Given the description of an element on the screen output the (x, y) to click on. 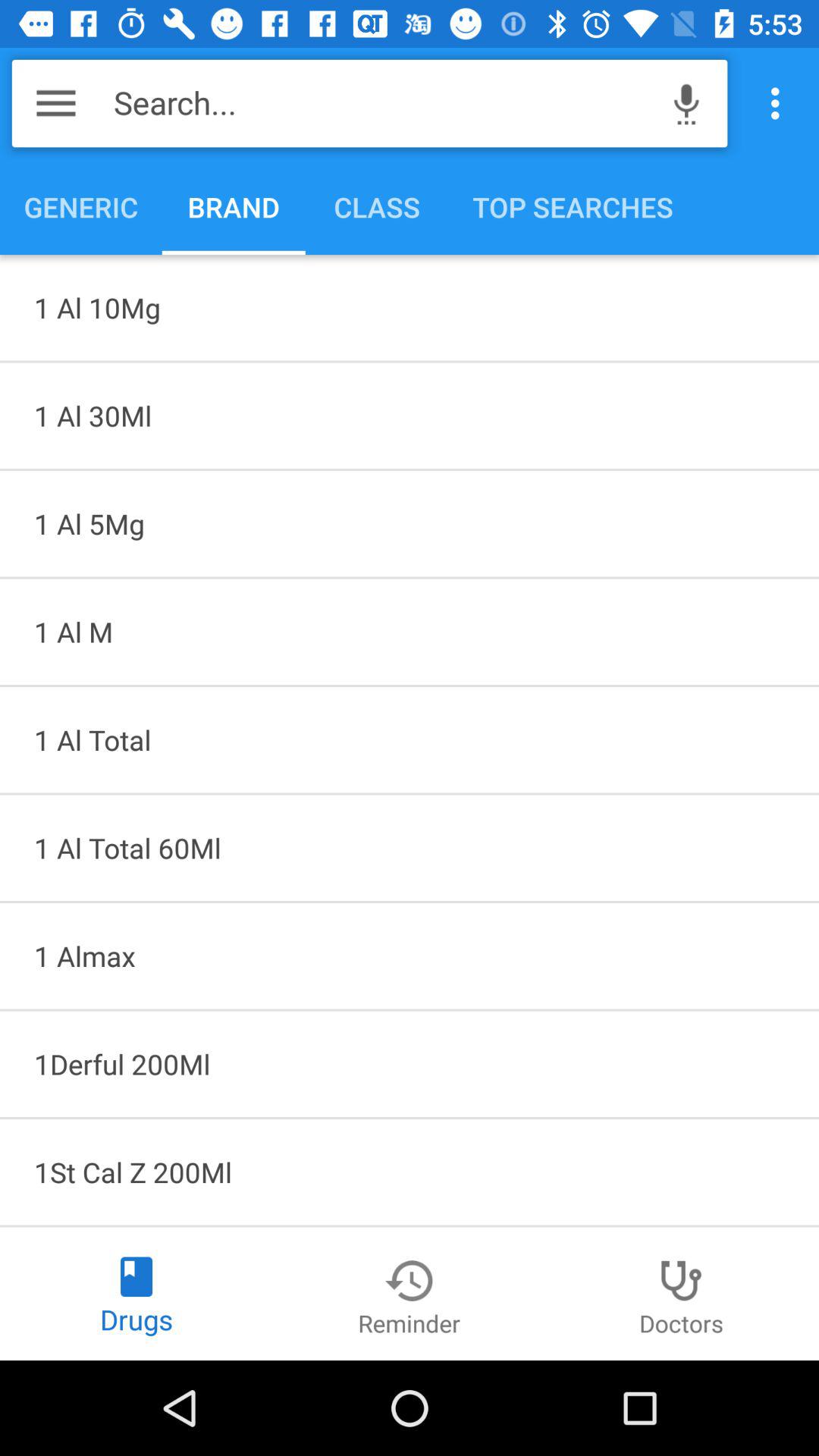
press the icon above the generic icon (55, 103)
